Given the description of an element on the screen output the (x, y) to click on. 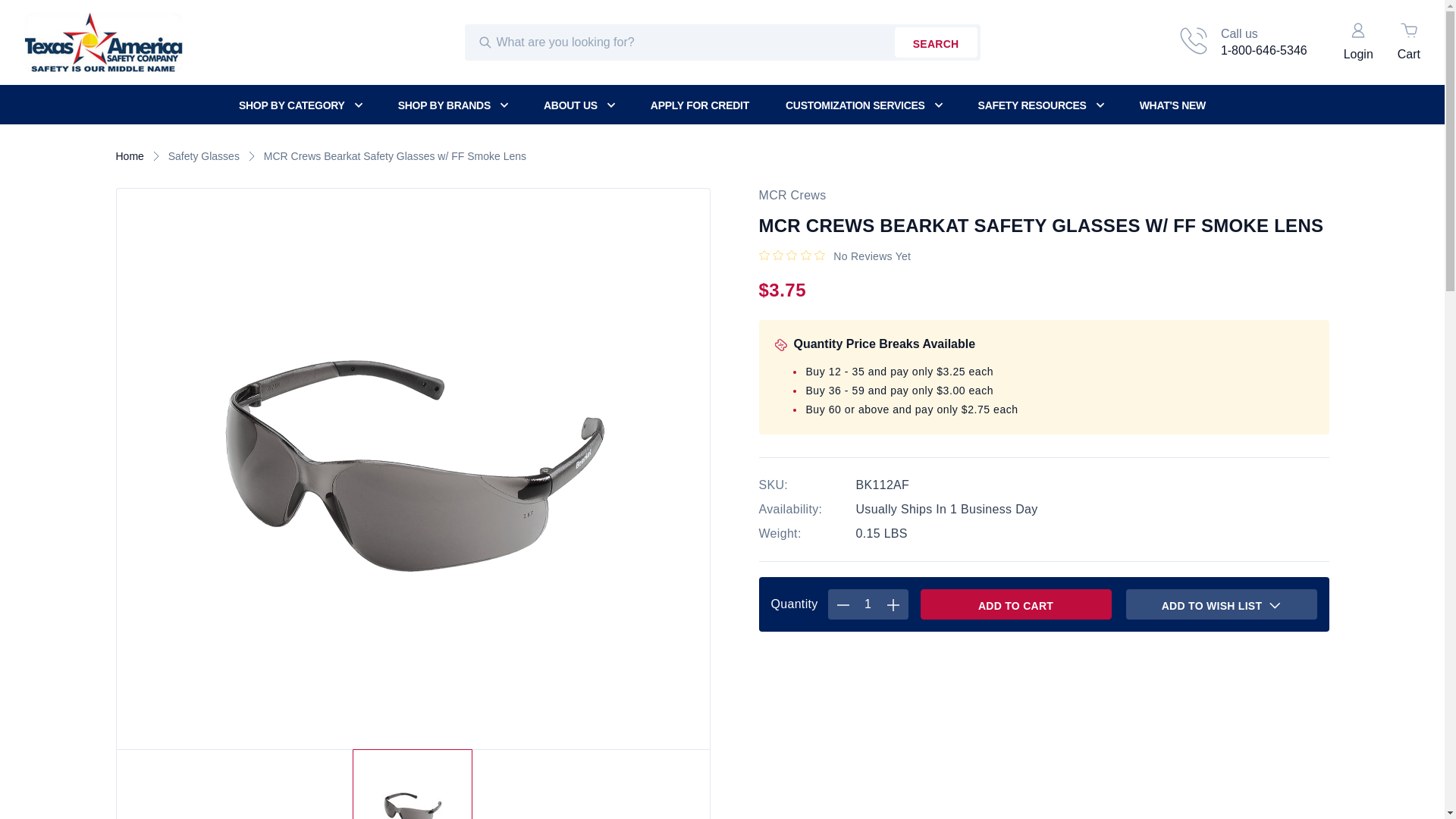
SEARCH (935, 42)
SHOP BY CATEGORY (1242, 41)
Add to Cart (309, 104)
Texas America Safety Company (1016, 603)
